Given the description of an element on the screen output the (x, y) to click on. 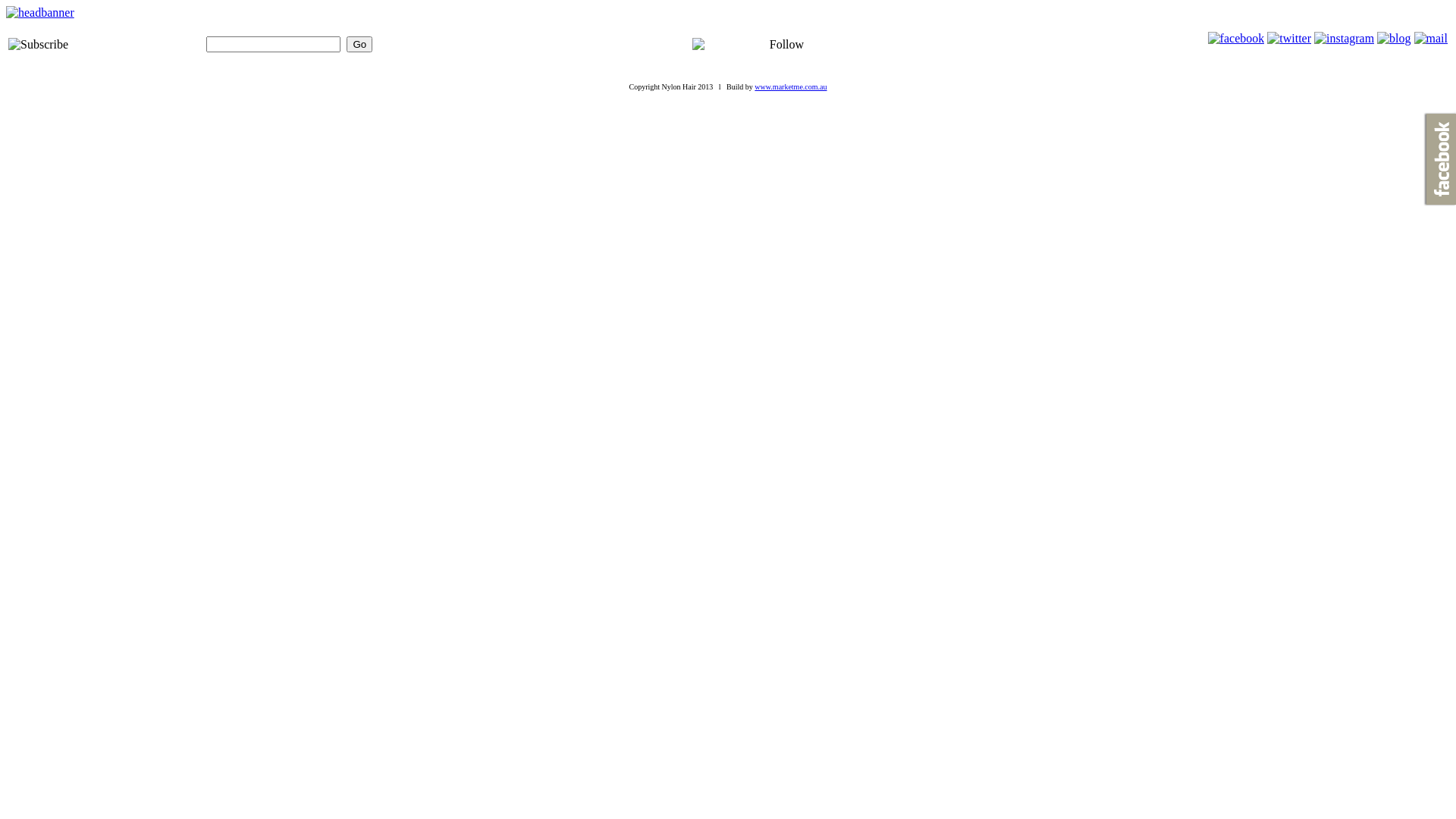
Go Element type: text (359, 44)
www.marketme.com.au Element type: text (790, 86)
